Given the description of an element on the screen output the (x, y) to click on. 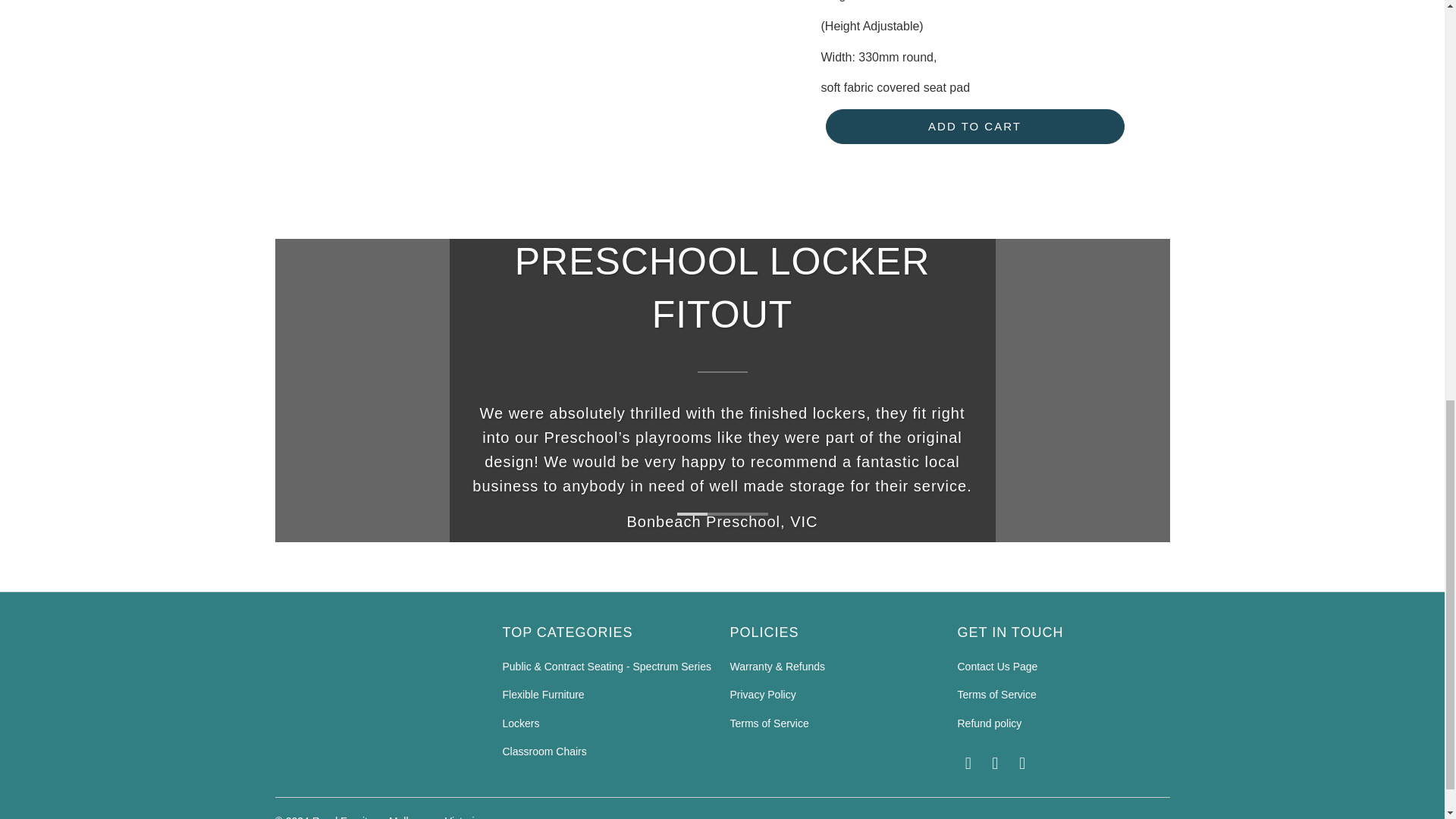
Reed Furniture on Facebook (967, 763)
Reed Furniture on LinkedIn (995, 763)
Email Reed Furniture (1022, 763)
